Given the description of an element on the screen output the (x, y) to click on. 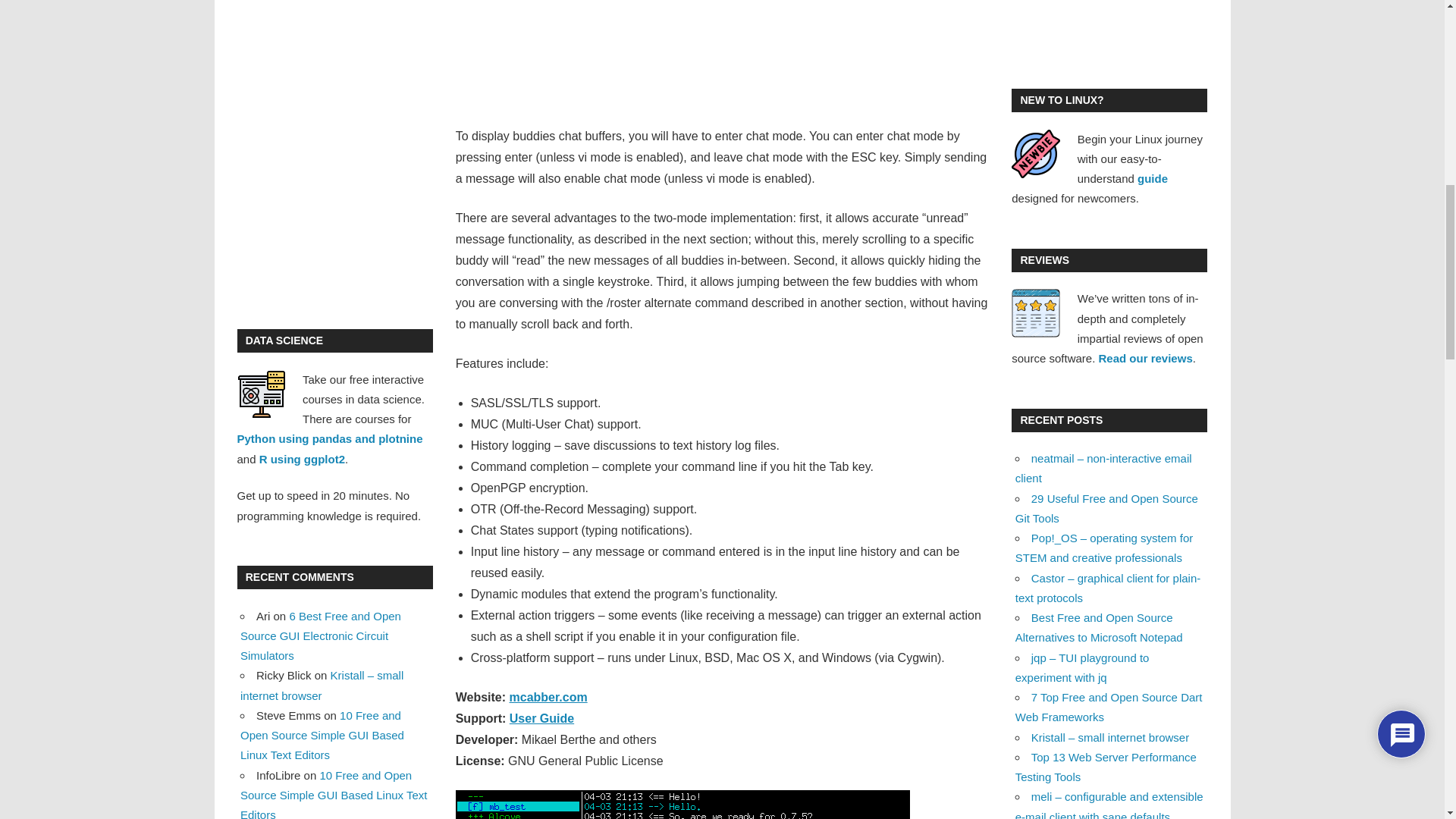
Advertisement (722, 56)
User Guide (541, 717)
mcabber.com (548, 697)
